Given the description of an element on the screen output the (x, y) to click on. 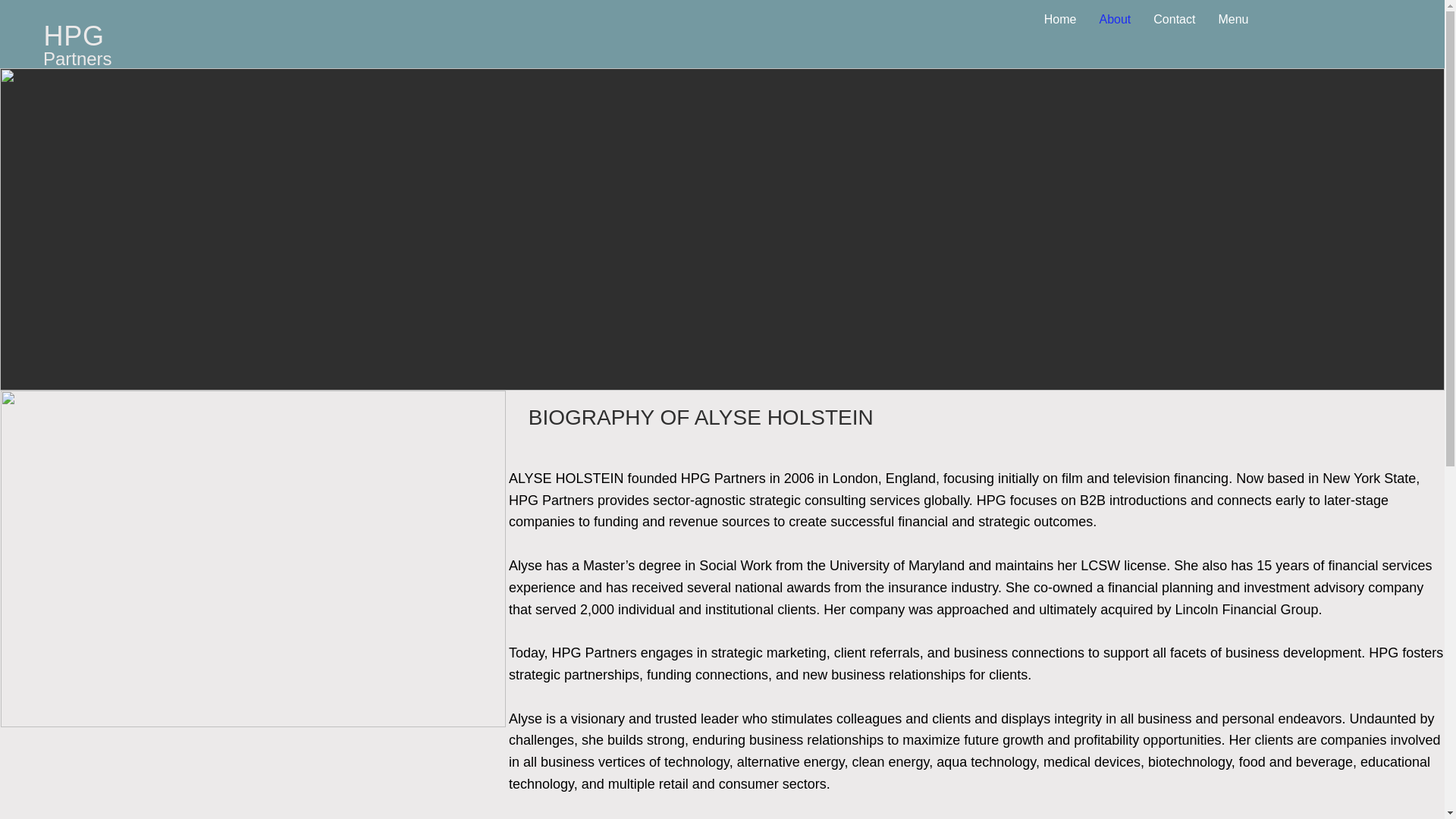
Home (1059, 33)
About (1114, 33)
Contact (1174, 33)
